Given the description of an element on the screen output the (x, y) to click on. 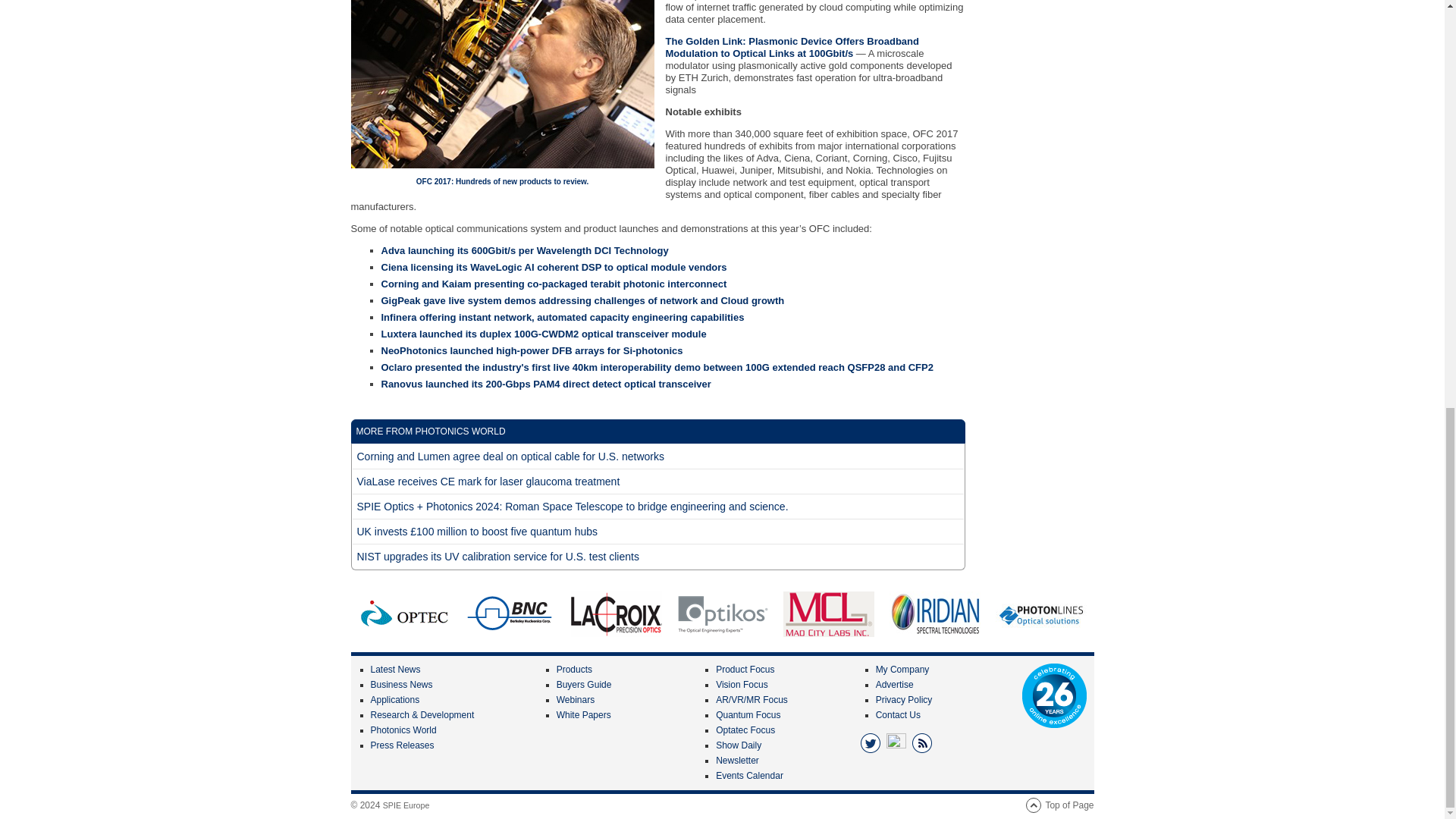
OFC 2017: Hundreds of new products to review. (501, 84)
Twitter (870, 742)
RSS Feeds (921, 742)
OFC 2017: Hundreds of new products to review. (502, 181)
LinkedIn (895, 742)
